Given the description of an element on the screen output the (x, y) to click on. 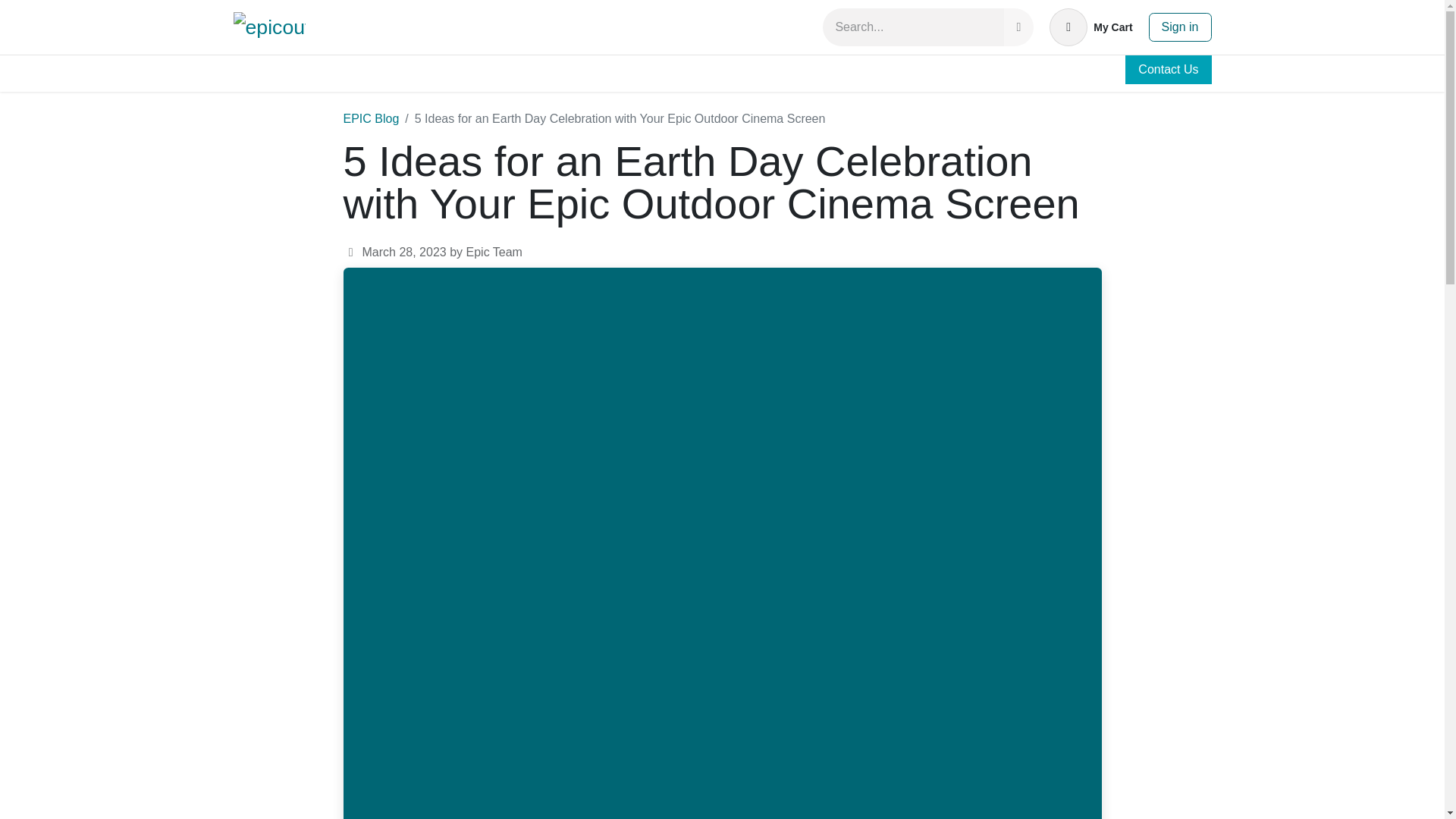
epicoutdoorcinema (268, 27)
Sign in (1179, 27)
Search (1018, 26)
My Cart (722, 27)
Contact Us (1090, 27)
EPIC Blog (1168, 69)
